Given the description of an element on the screen output the (x, y) to click on. 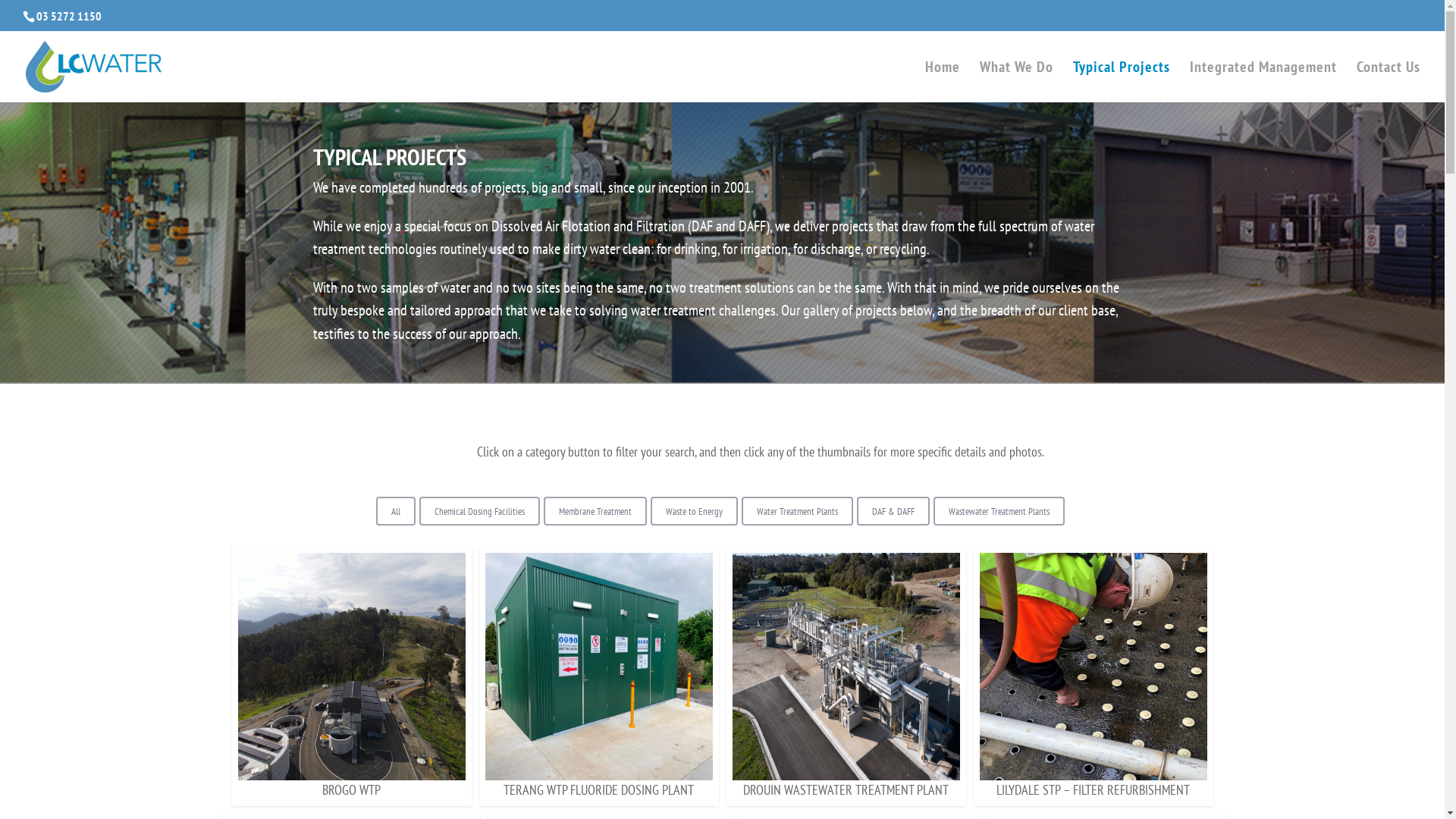
What We Do Element type: text (1016, 81)
Typical Projects Element type: text (1121, 81)
Chemical Dosing Facilities Element type: text (479, 510)
ICON Gippsland Water Drouin 023 (Medium) Element type: hover (846, 666)
All Element type: text (395, 510)
Contact Us Element type: text (1388, 81)
Waste to Energy Element type: text (693, 510)
G&M Installing Filter Nozzles Element type: hover (1093, 666)
Home Element type: text (942, 81)
Water Treatment Plants Element type: text (797, 510)
dji_fly_20230320_164140_920_1679290979694_photo Element type: hover (351, 666)
03 5272 1150 Element type: text (68, 15)
Wastewater Treatment Plants Element type: text (998, 510)
Integrated Management Element type: text (1262, 81)
IMG_5430 Element type: hover (598, 666)
Membrane Treatment Element type: text (594, 510)
DAF & DAFF Element type: text (892, 510)
